Given the description of an element on the screen output the (x, y) to click on. 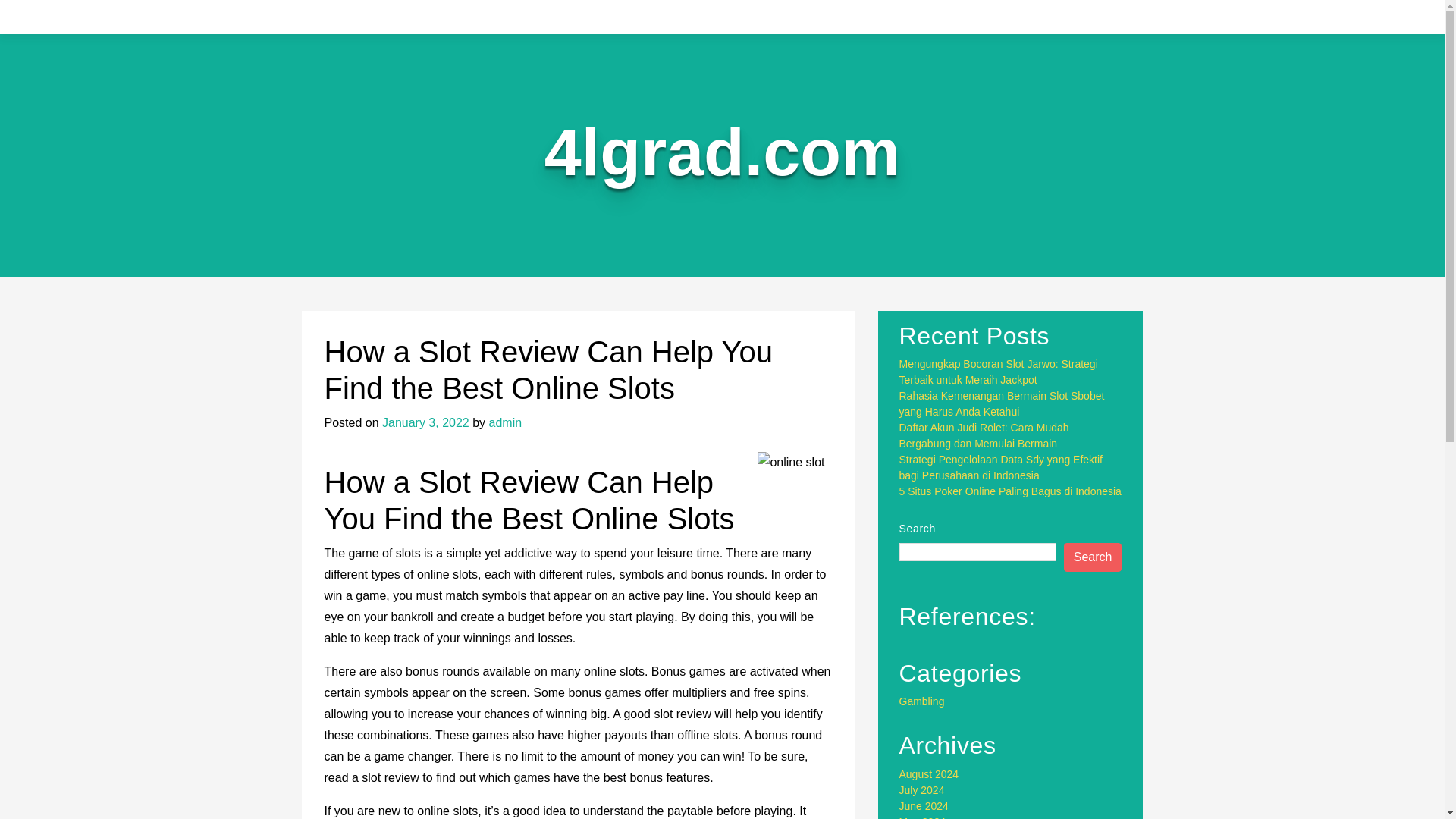
July 2024 (921, 789)
June 2024 (924, 806)
5 Situs Poker Online Paling Bagus di Indonesia (1010, 491)
May 2024 (921, 817)
Search (1093, 556)
August 2024 (929, 774)
